Given the description of an element on the screen output the (x, y) to click on. 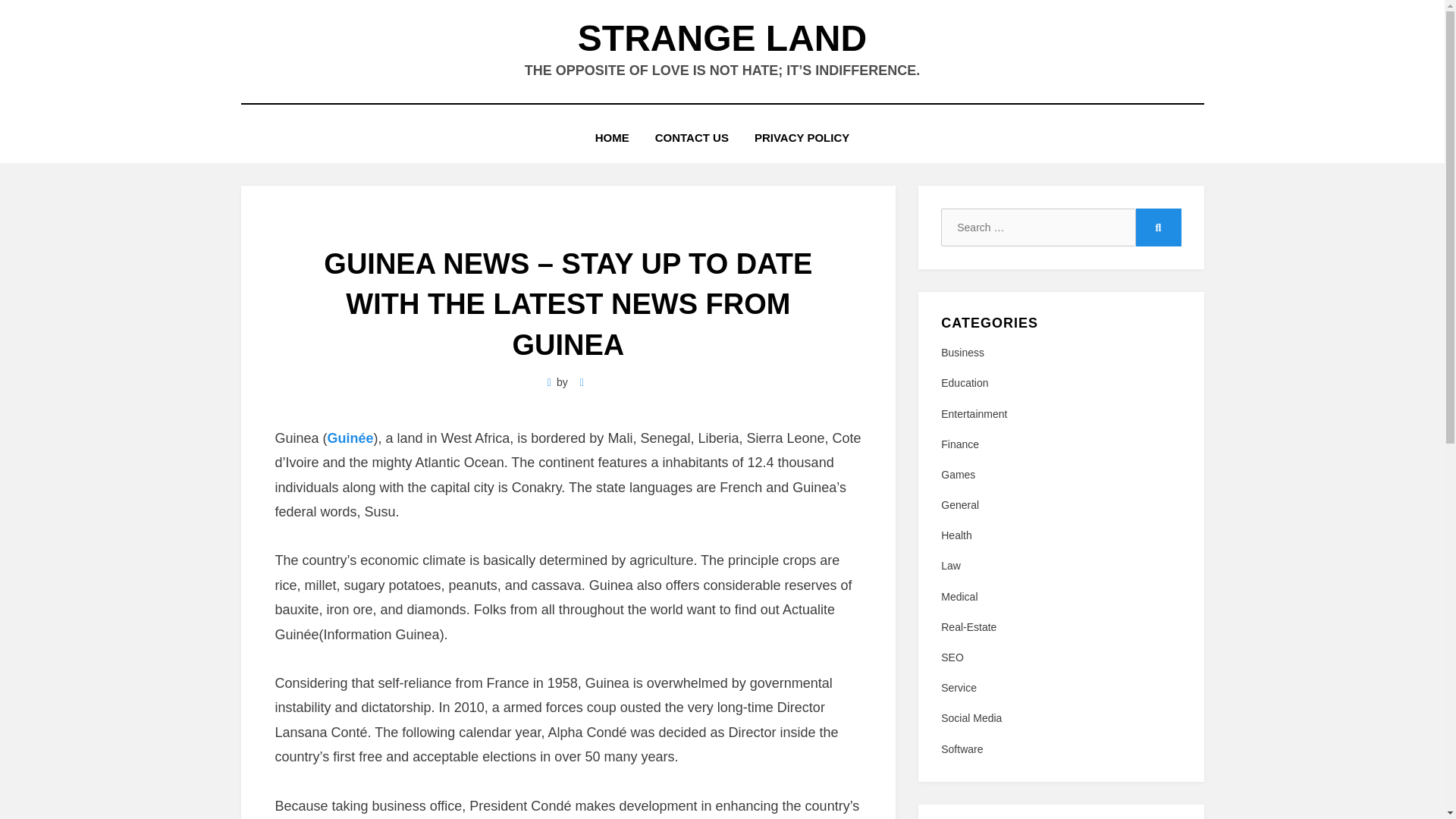
CONTACT US (691, 137)
General (1060, 505)
Service (1060, 687)
Business (1060, 352)
STRANGE LAND (722, 38)
SEO (1060, 657)
HOME (612, 137)
Entertainment (1060, 414)
Games (1060, 475)
Education (1060, 383)
Health (1060, 535)
Medical (1060, 597)
Software (1060, 749)
Law (1060, 565)
Search (1157, 227)
